Given the description of an element on the screen output the (x, y) to click on. 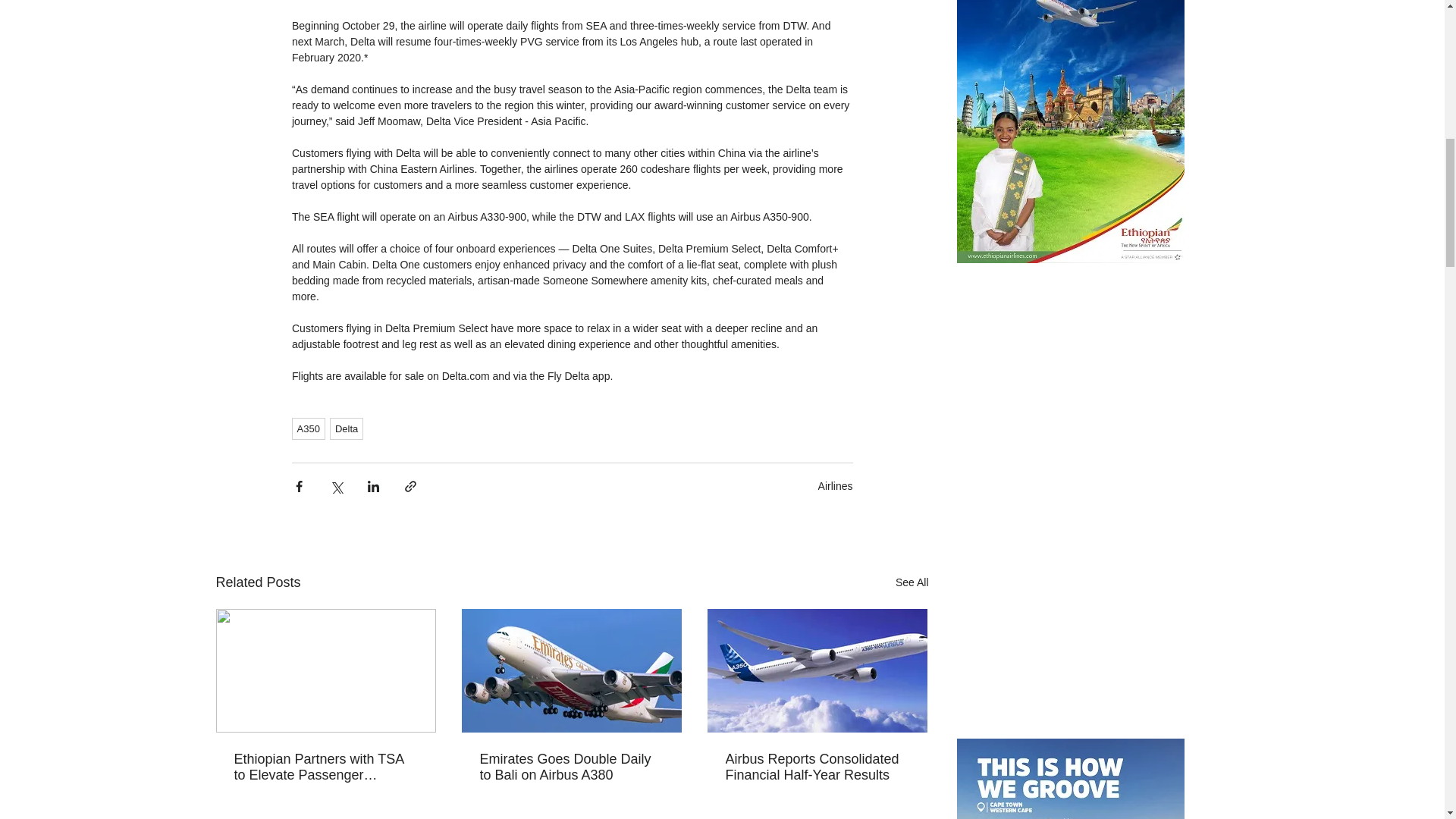
Delta (346, 428)
A350 (307, 428)
Emirates Goes Double Daily to Bali on Airbus A380 (570, 766)
Ethiopian Partners with TSA to Elevate Passenger Experience (324, 766)
Airbus Reports Consolidated Financial Half-Year Results (816, 766)
See All (911, 582)
Airlines (835, 485)
